Given the description of an element on the screen output the (x, y) to click on. 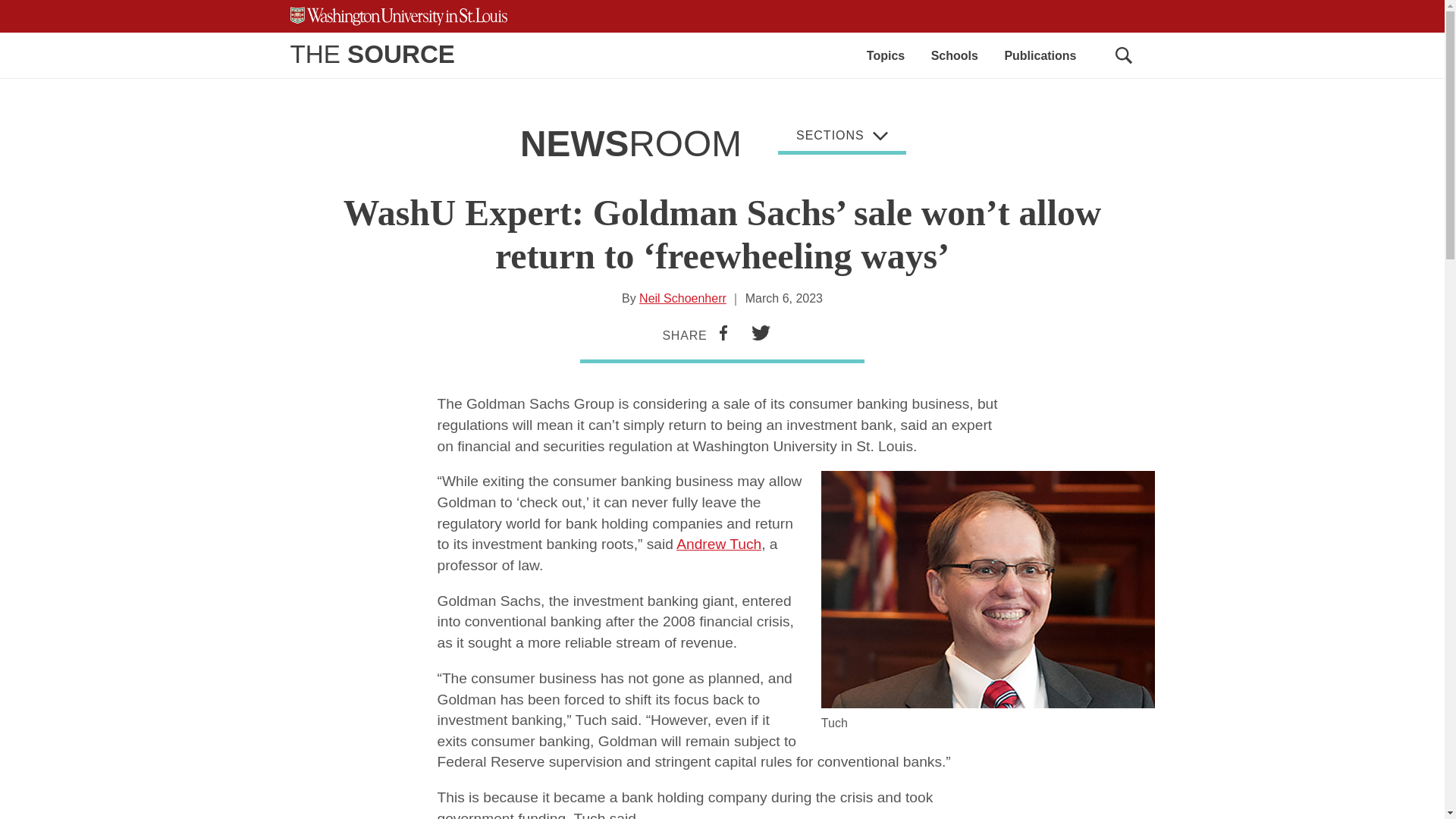
SECTIONS (841, 137)
NEWSROOM (630, 143)
THE SOURCE (371, 53)
Click to share on Twitter (761, 334)
Click to share on Facebook (723, 334)
Neil Schoenherr (682, 297)
Publications (1039, 54)
Schools (954, 54)
